Given the description of an element on the screen output the (x, y) to click on. 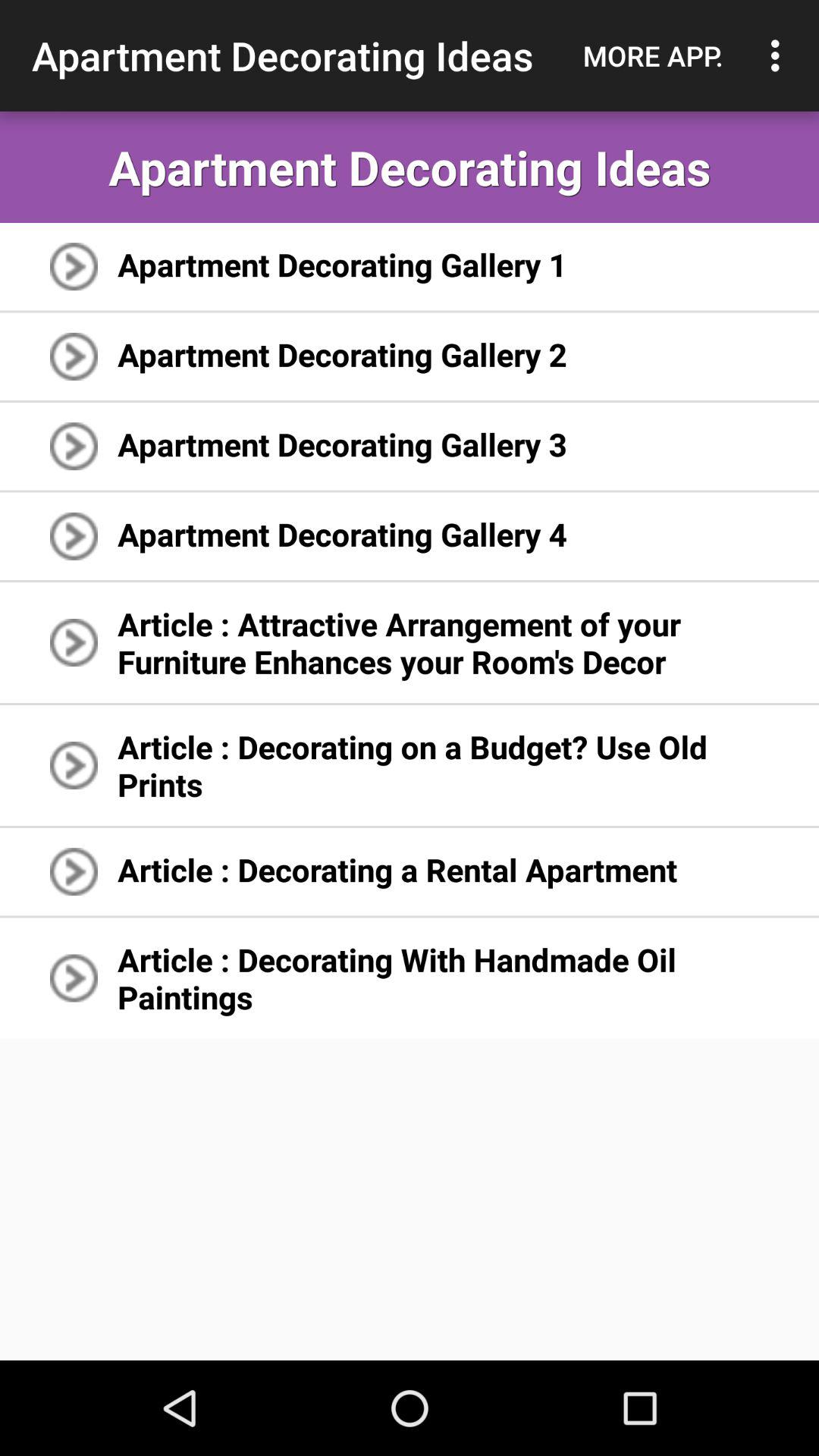
tap the app above the apartment decorating ideas app (779, 55)
